Given the description of an element on the screen output the (x, y) to click on. 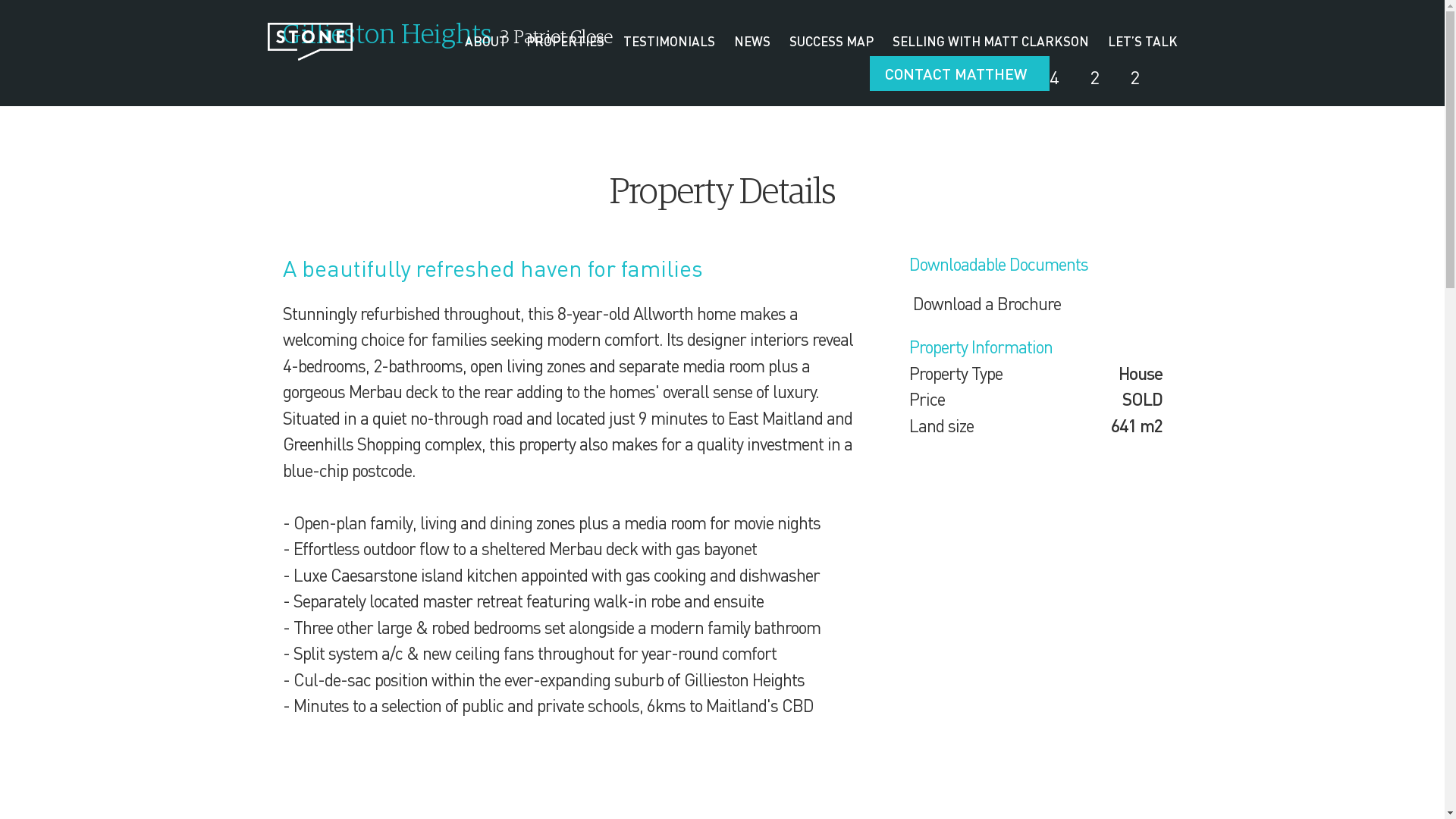
Matt Clarkson -  Element type: hover (308, 41)
TESTIMONIALS Element type: text (669, 41)
SELLING WITH MATT CLARKSON Element type: text (989, 41)
PROPERTIES Element type: text (565, 41)
NEWS Element type: text (752, 41)
SUCCESS MAP Element type: text (830, 41)
ABOUT Element type: text (485, 41)
CONTACT MATTHEW Element type: text (958, 73)
Download a Brochure Element type: text (984, 302)
